Given the description of an element on the screen output the (x, y) to click on. 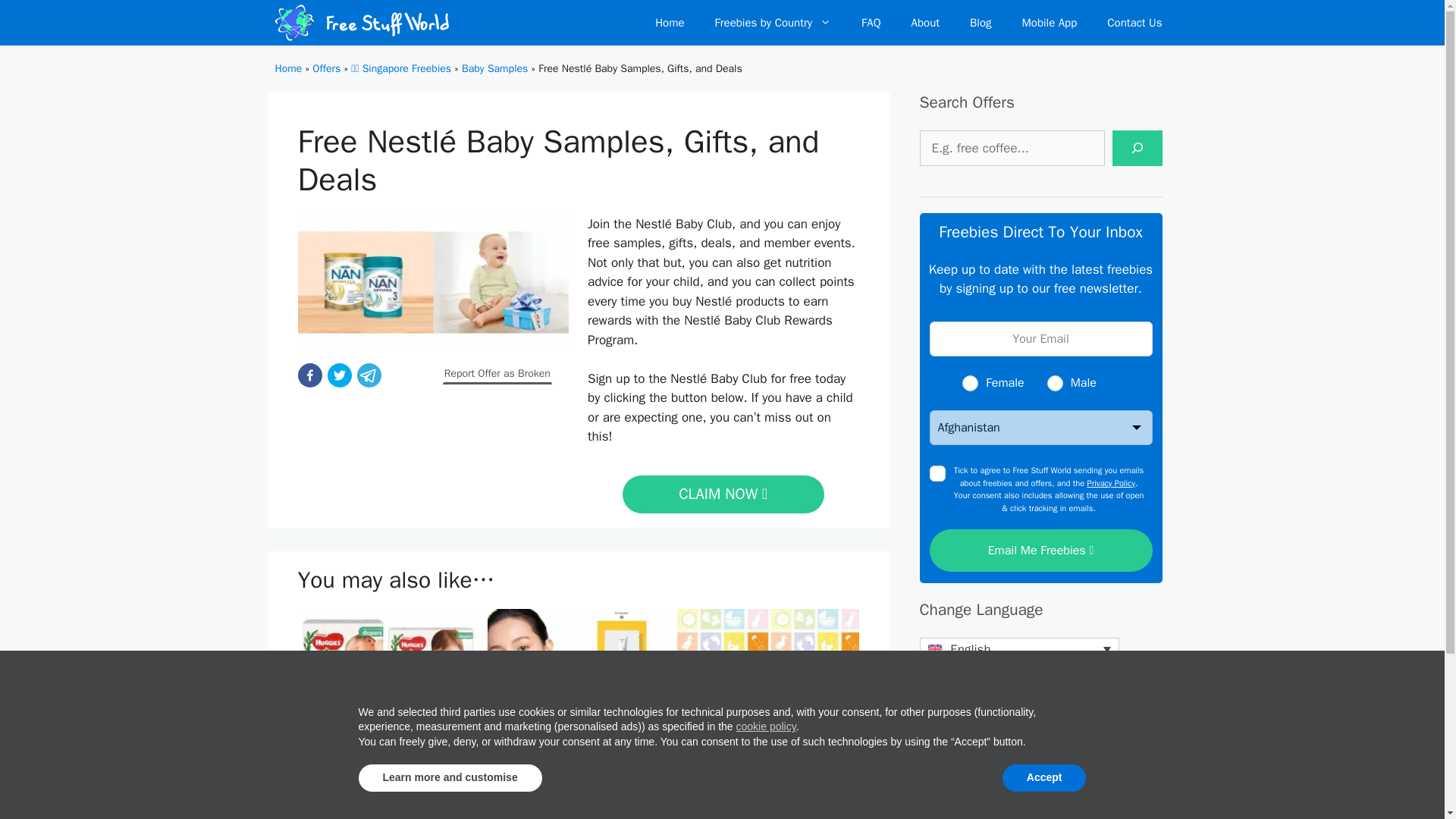
FAQ (870, 22)
Freebies by Country (773, 22)
Report Offer as Broken (496, 373)
Contact Us (1134, 22)
Blog (980, 22)
Home (669, 22)
Offers (326, 68)
Mobile App (1050, 22)
